Given the description of an element on the screen output the (x, y) to click on. 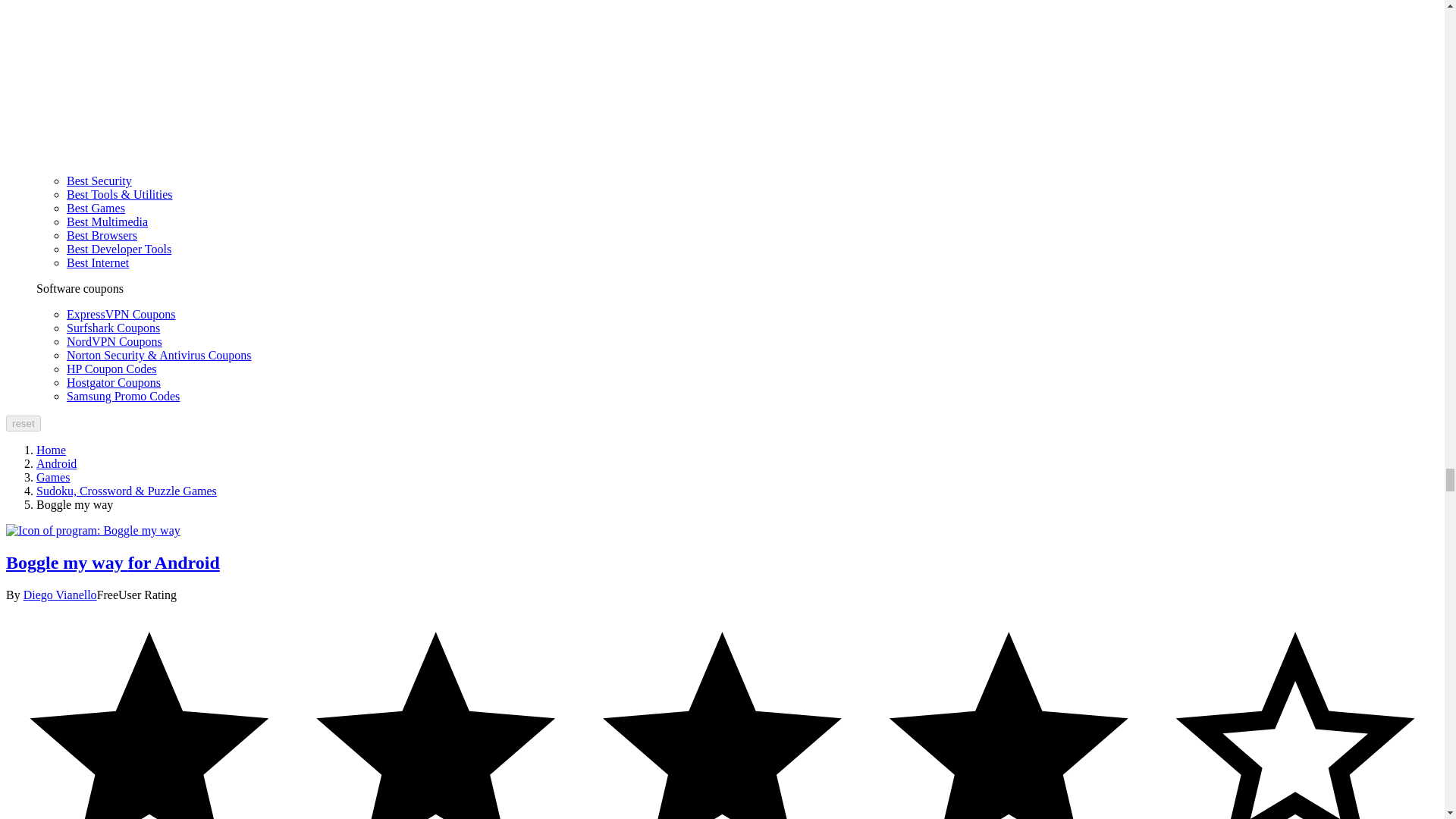
reset (22, 423)
Boggle my way for Android (92, 530)
